Given the description of an element on the screen output the (x, y) to click on. 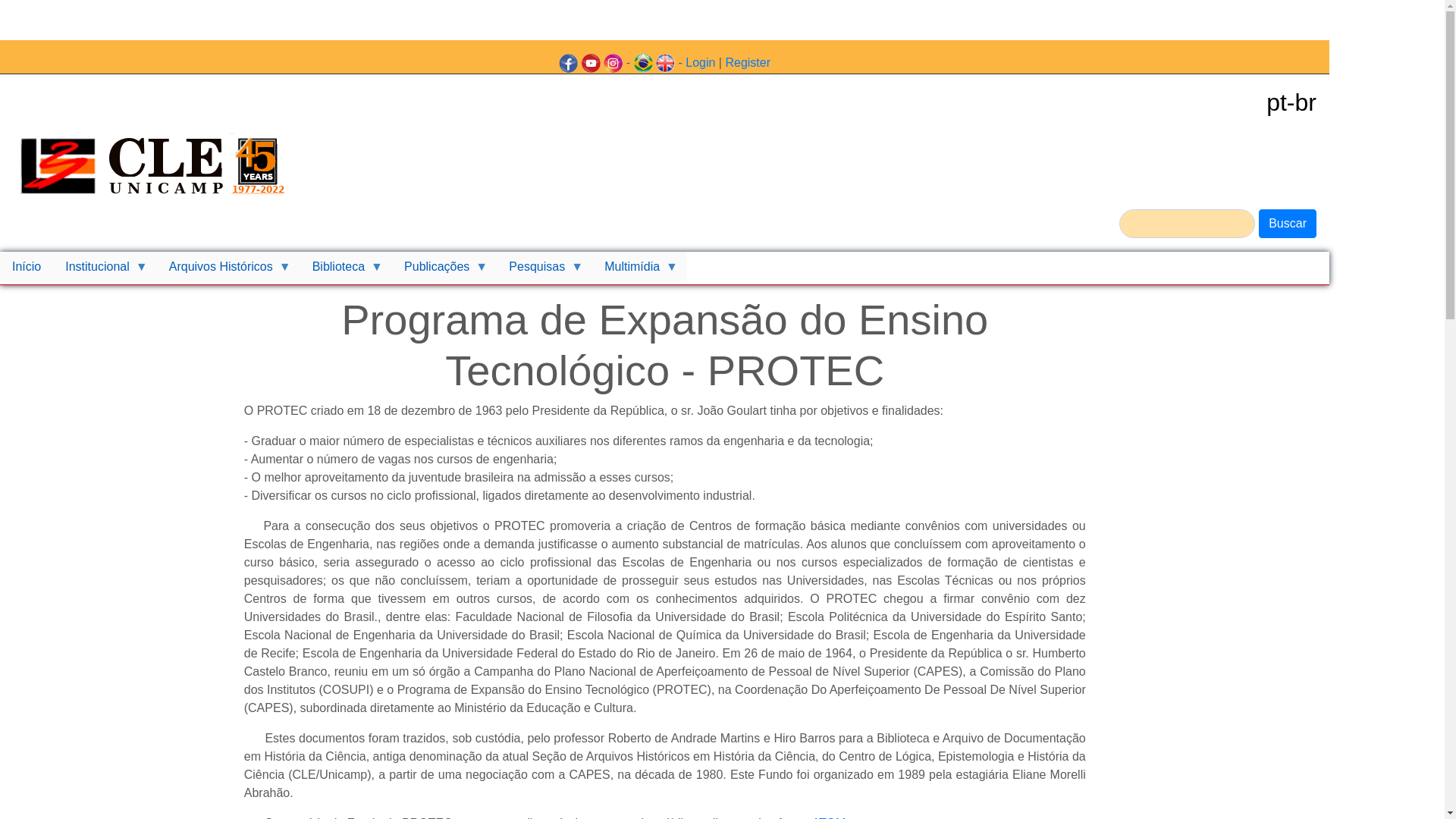
Register Element type: text (747, 62)
Login Element type: text (700, 62)
Buscar Element type: text (1287, 223)
